Given the description of an element on the screen output the (x, y) to click on. 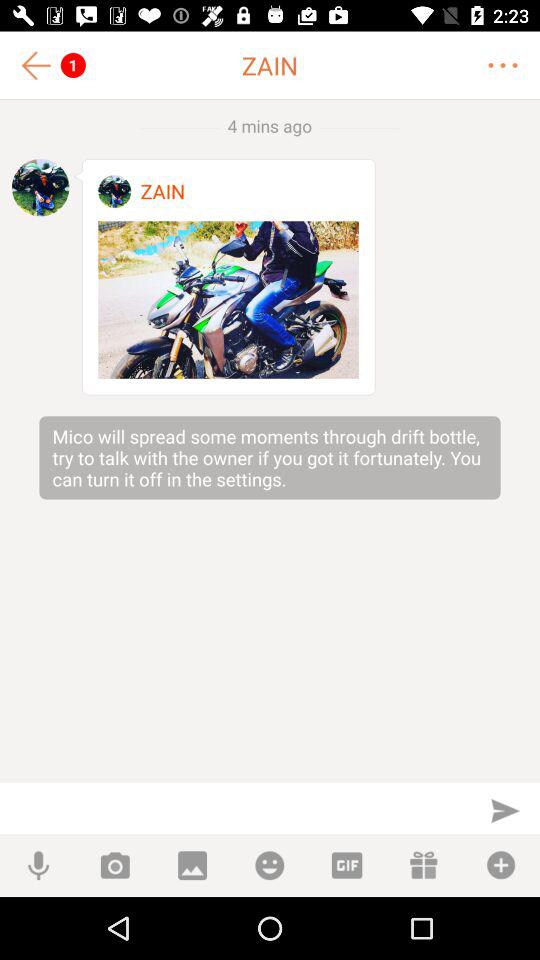
type space (235, 808)
